Given the description of an element on the screen output the (x, y) to click on. 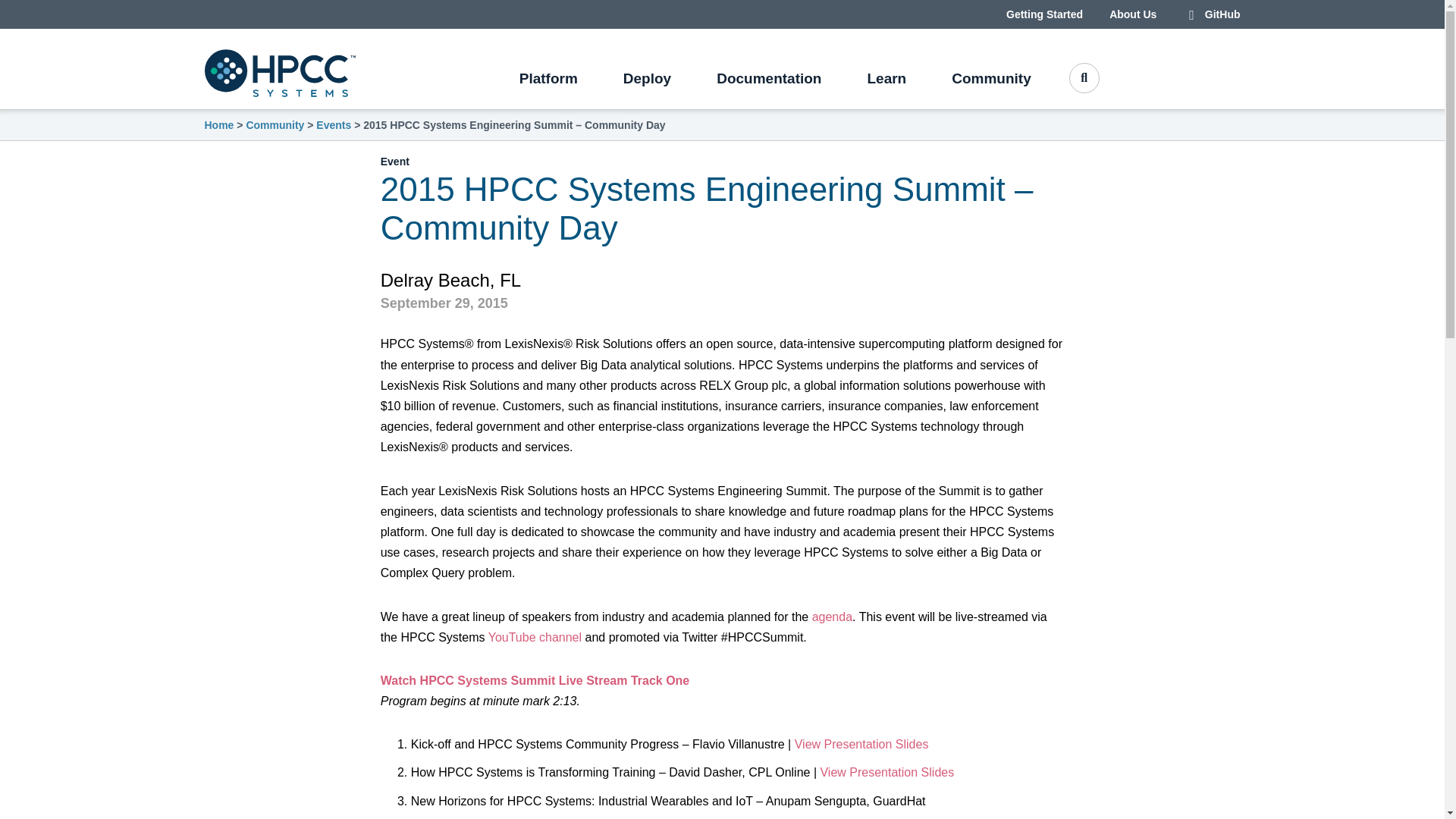
GitHub (1211, 13)
Documentation (769, 83)
Deploy (646, 83)
About Us (1132, 13)
Getting Started (1044, 13)
Platform (547, 83)
